Given the description of an element on the screen output the (x, y) to click on. 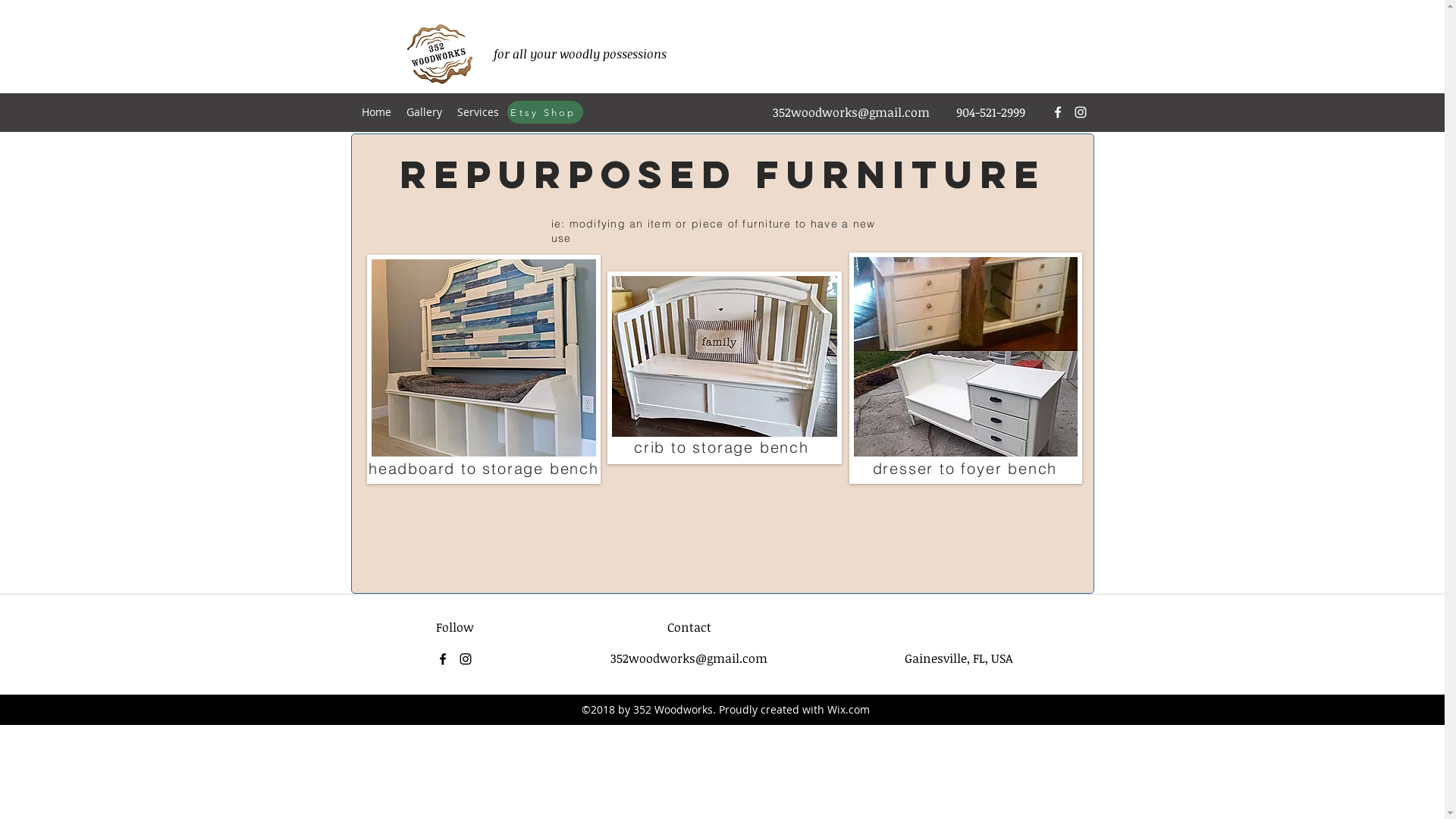
352woodworks@gmail.com Element type: text (849, 111)
352woodworks@gmail.com Element type: text (688, 657)
Etsy Shop Element type: text (544, 111)
Gallery Element type: text (423, 111)
Services Element type: text (476, 111)
Home Element type: text (375, 111)
